Given the description of an element on the screen output the (x, y) to click on. 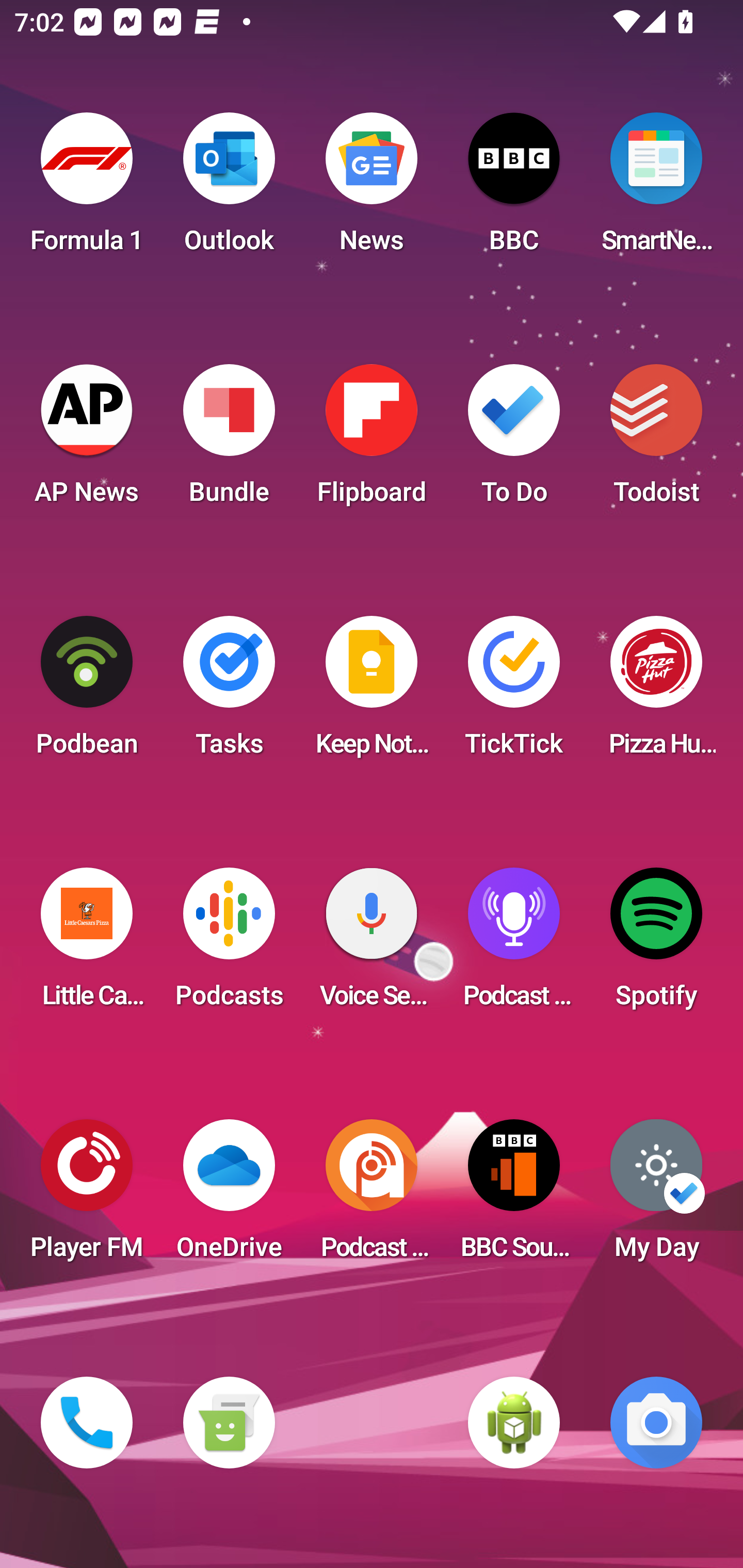
Formula 1 (86, 188)
Outlook (228, 188)
News (371, 188)
BBC (513, 188)
SmartNews (656, 188)
AP News (86, 440)
Bundle (228, 440)
Flipboard (371, 440)
To Do (513, 440)
Todoist (656, 440)
Podbean (86, 692)
Tasks (228, 692)
Keep Notes (371, 692)
TickTick (513, 692)
Pizza Hut HK & Macau (656, 692)
Little Caesars Pizza (86, 943)
Podcasts (228, 943)
Voice Search (371, 943)
Podcast Player (513, 943)
Spotify (656, 943)
Player FM (86, 1195)
OneDrive (228, 1195)
Podcast Addict (371, 1195)
BBC Sounds (513, 1195)
My Day (656, 1195)
Phone (86, 1422)
Messaging (228, 1422)
WebView Browser Tester (513, 1422)
Camera (656, 1422)
